Given the description of an element on the screen output the (x, y) to click on. 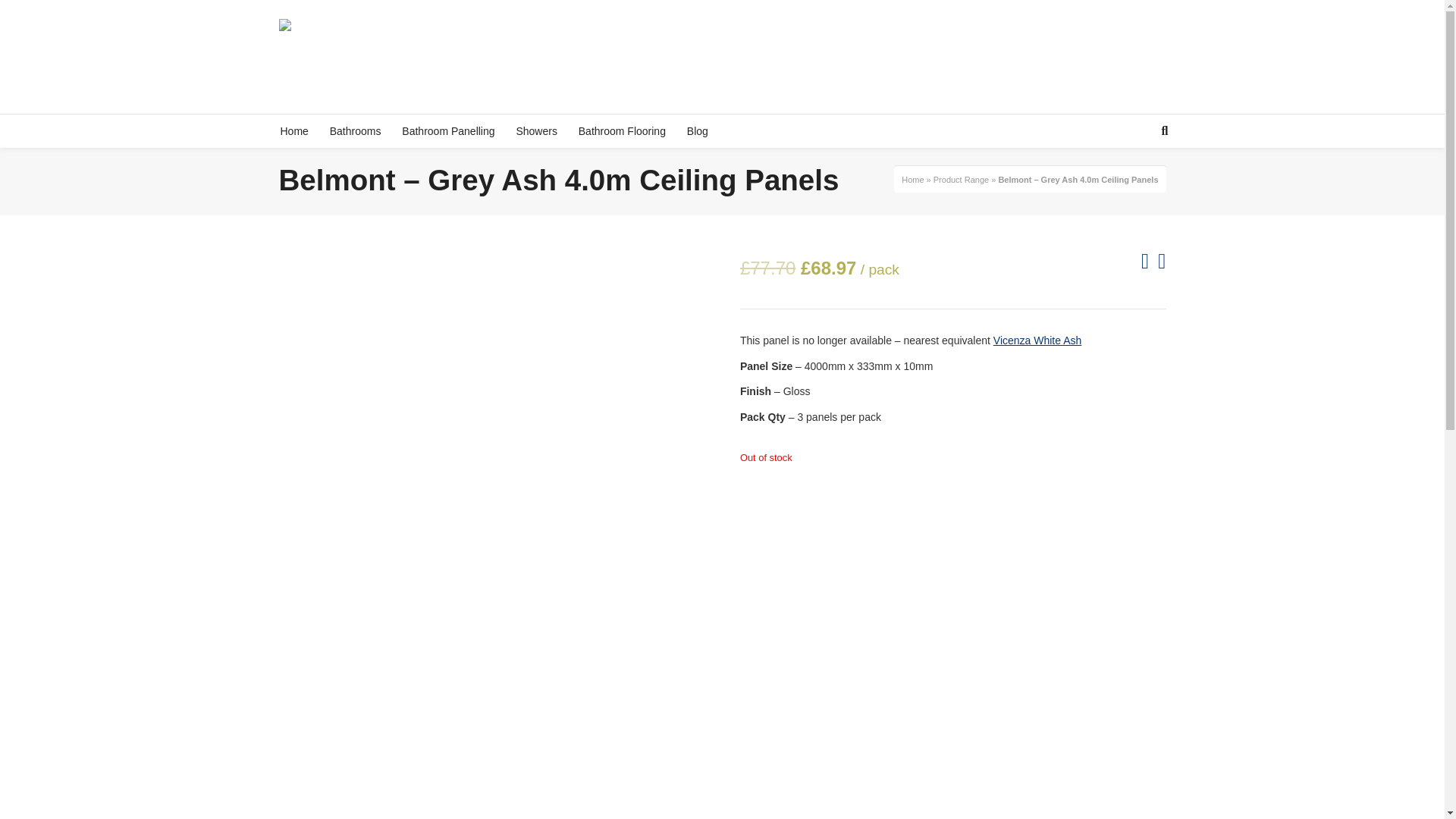
Bathrooms (355, 131)
Bathroom Panelling (448, 131)
Home (293, 131)
